Given the description of an element on the screen output the (x, y) to click on. 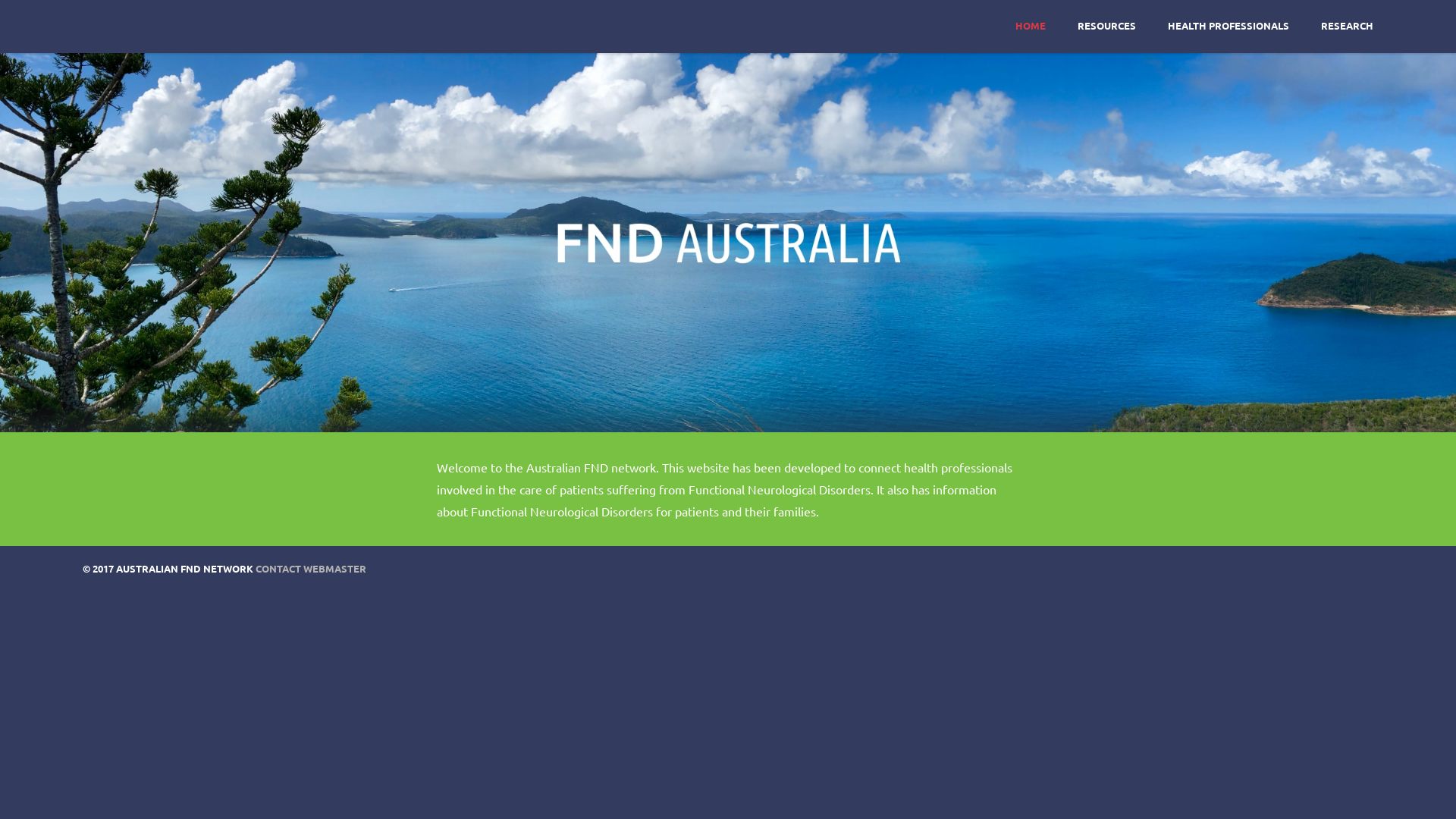
HOME Element type: text (1030, 24)
RESEARCH Element type: text (1347, 24)
CONTACT WEBMASTER Element type: text (310, 567)
RESOURCES Element type: text (1106, 24)
HEALTH PROFESSIONALS Element type: text (1228, 24)
